Given the description of an element on the screen output the (x, y) to click on. 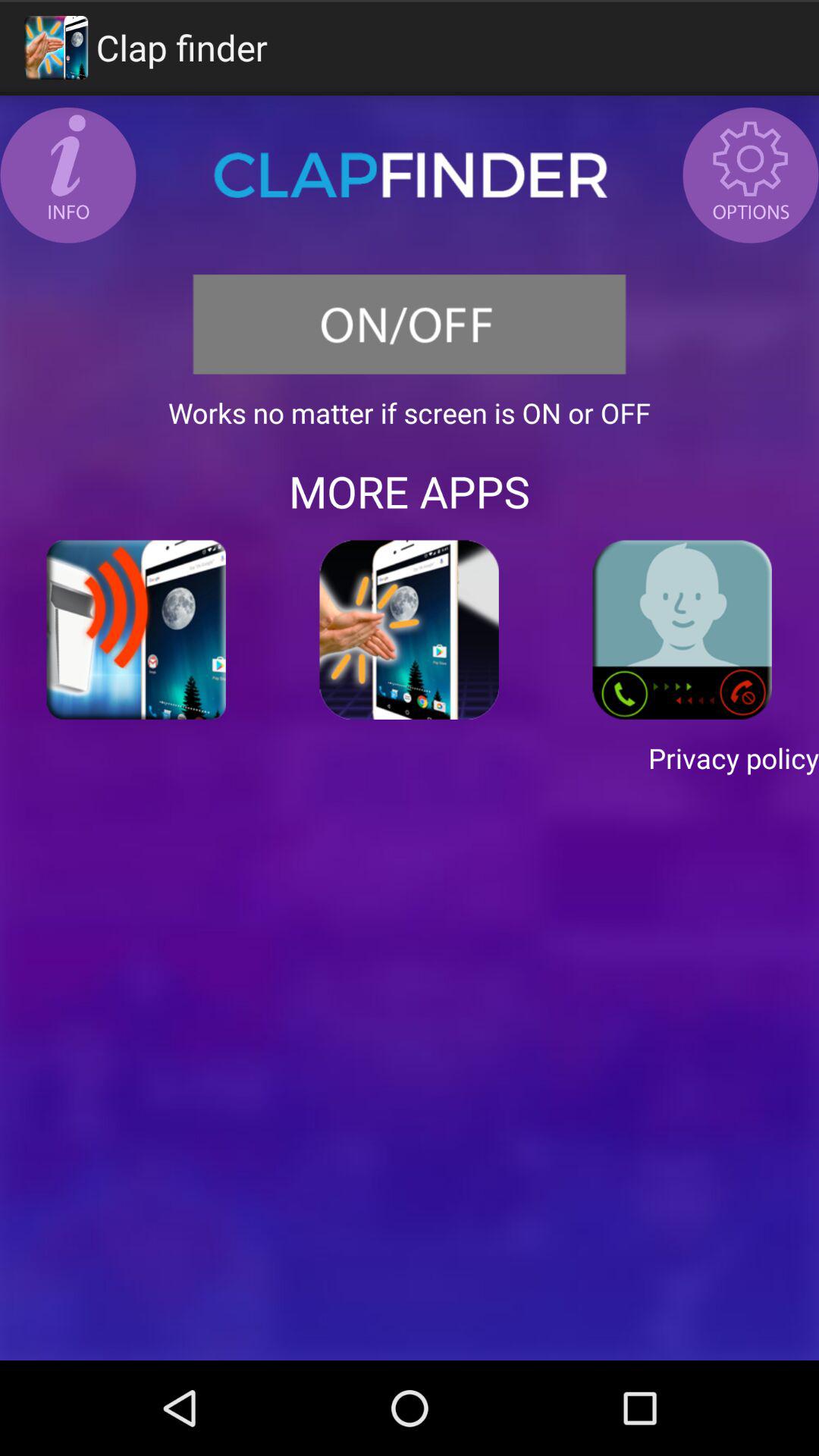
share the video (136, 629)
